Given the description of an element on the screen output the (x, y) to click on. 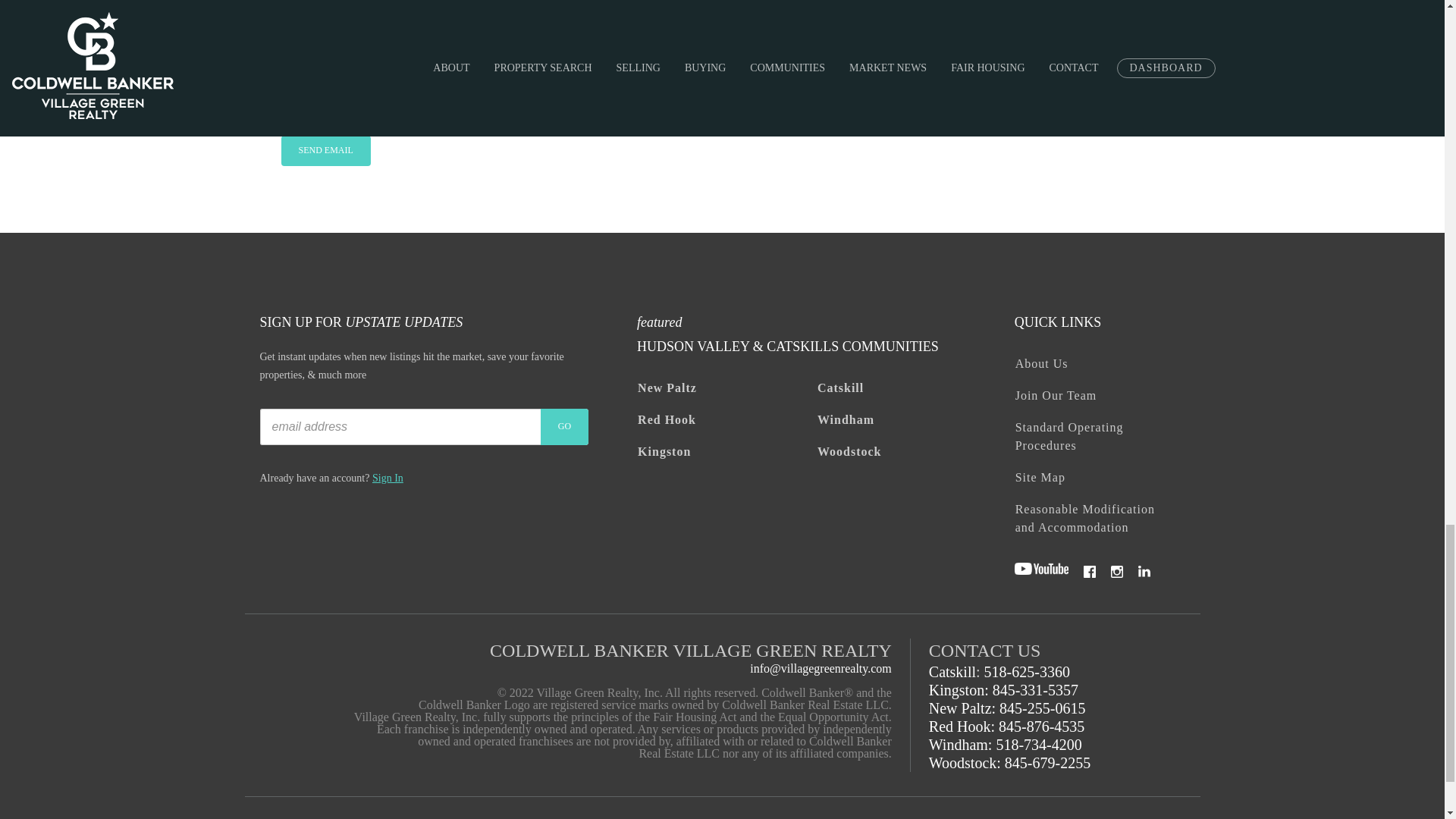
Instagram Icon (1116, 571)
Facebook Icon (1089, 571)
LinkedIn Icon (1144, 571)
